Given the description of an element on the screen output the (x, y) to click on. 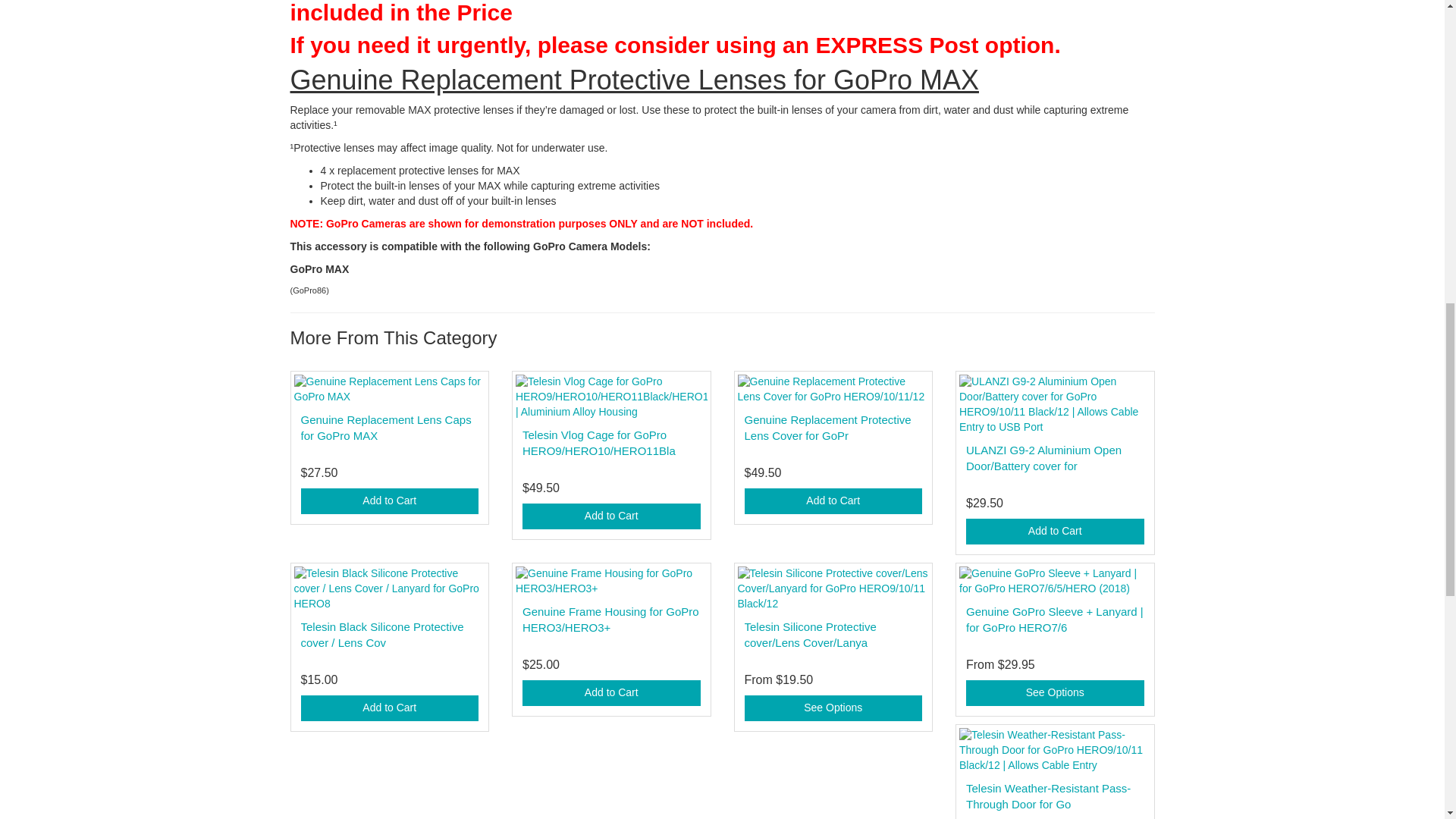
Add to Cart (389, 501)
Add to Cart (1055, 531)
Add to Cart (611, 692)
Add to Cart (611, 516)
Add to Cart (389, 708)
Add to Cart (833, 501)
Buying Options (833, 708)
Genuine Replacement Lens Caps for GoPro MAX (384, 427)
